Given the description of an element on the screen output the (x, y) to click on. 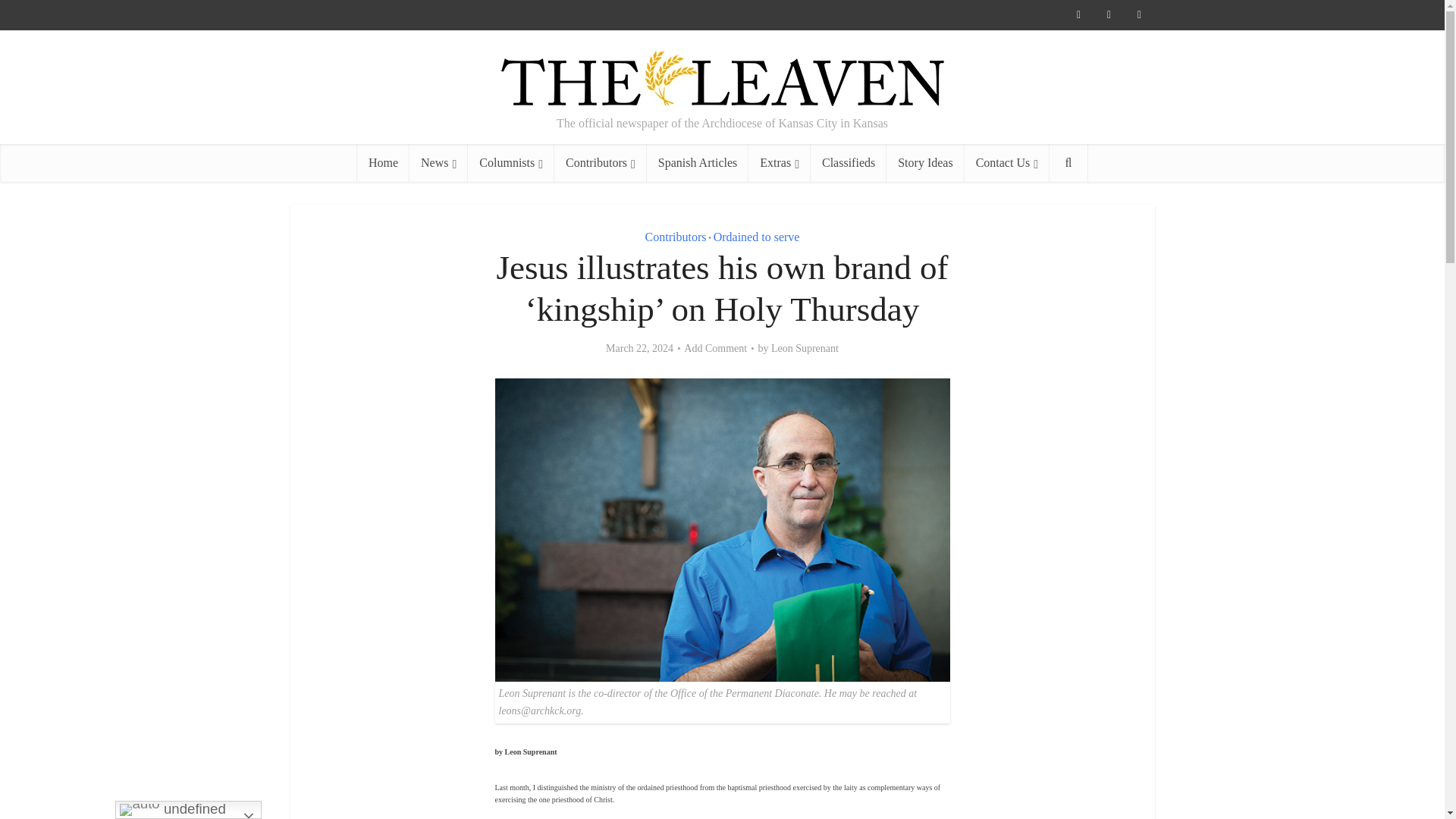
None (438, 162)
Classifieds (848, 162)
Extras (779, 162)
News (438, 162)
Spanish Articles (697, 162)
Columnists (510, 162)
Contributors (600, 162)
Home (382, 162)
